Given the description of an element on the screen output the (x, y) to click on. 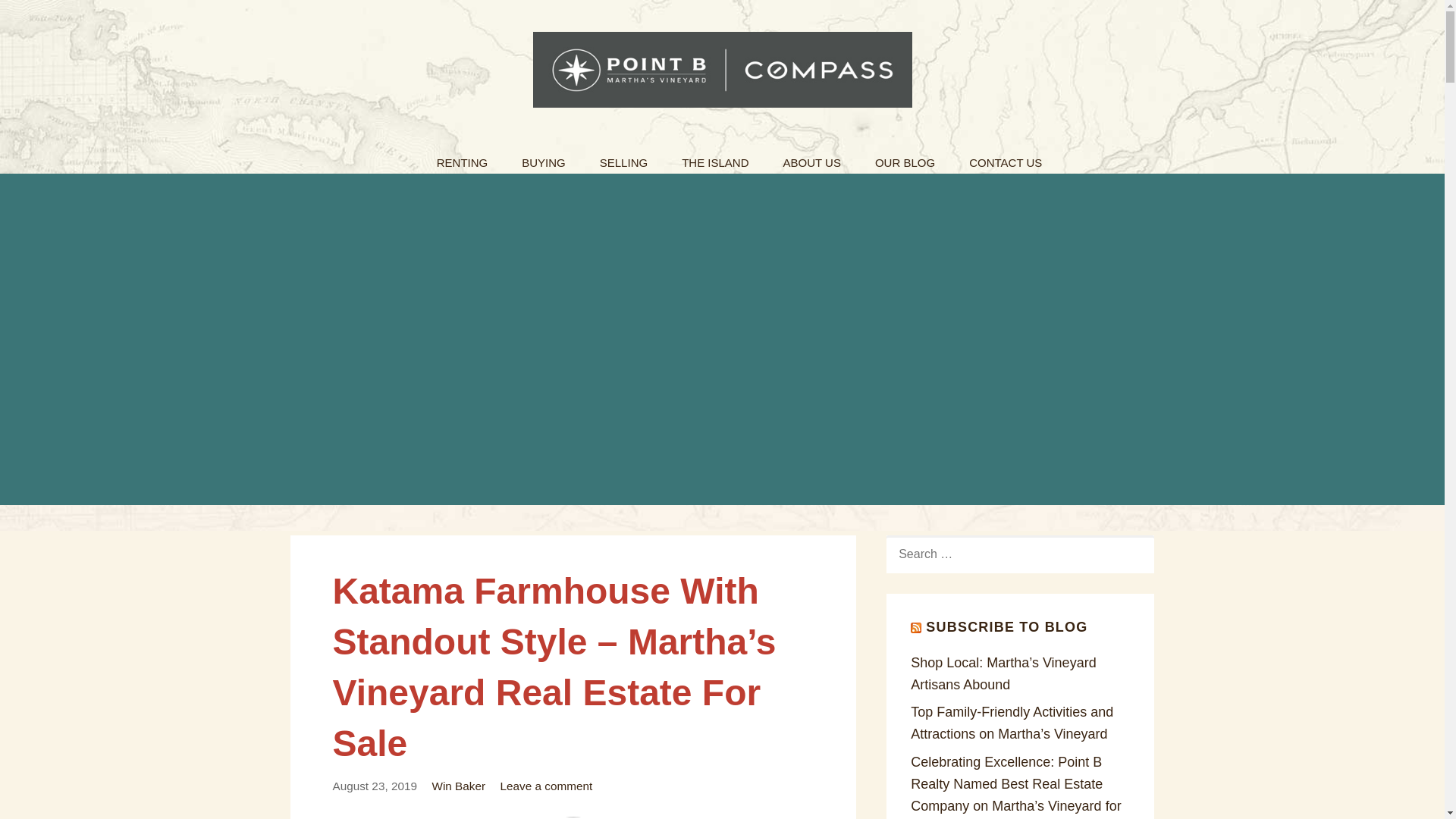
SELLING (623, 157)
Posts by Win Baker (457, 785)
THE ISLAND (714, 157)
Win Baker (457, 785)
Leave a comment (546, 785)
RENTING (462, 157)
CONTACT US (1005, 157)
OUR BLOG (905, 157)
BUYING (543, 157)
ABOUT US (812, 157)
